Given the description of an element on the screen output the (x, y) to click on. 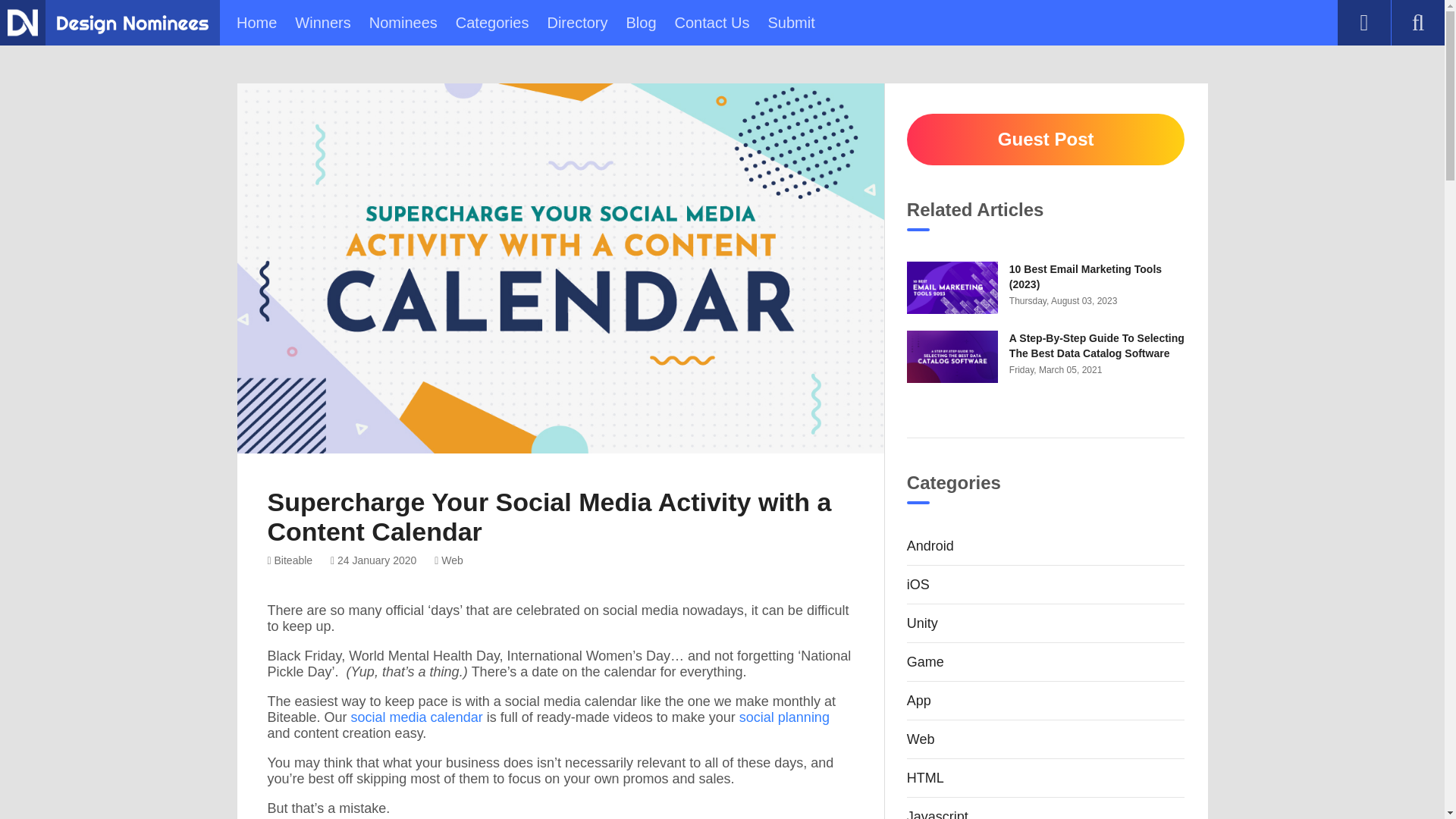
Web (448, 560)
Submit (790, 22)
Biteable (289, 560)
Winners (322, 22)
Design Nominees (132, 24)
Directory (577, 22)
Nominees (403, 22)
Contact Us (712, 22)
social planning (784, 717)
Categories (492, 22)
Design Nominees (22, 22)
social media calendar (416, 717)
